Given the description of an element on the screen output the (x, y) to click on. 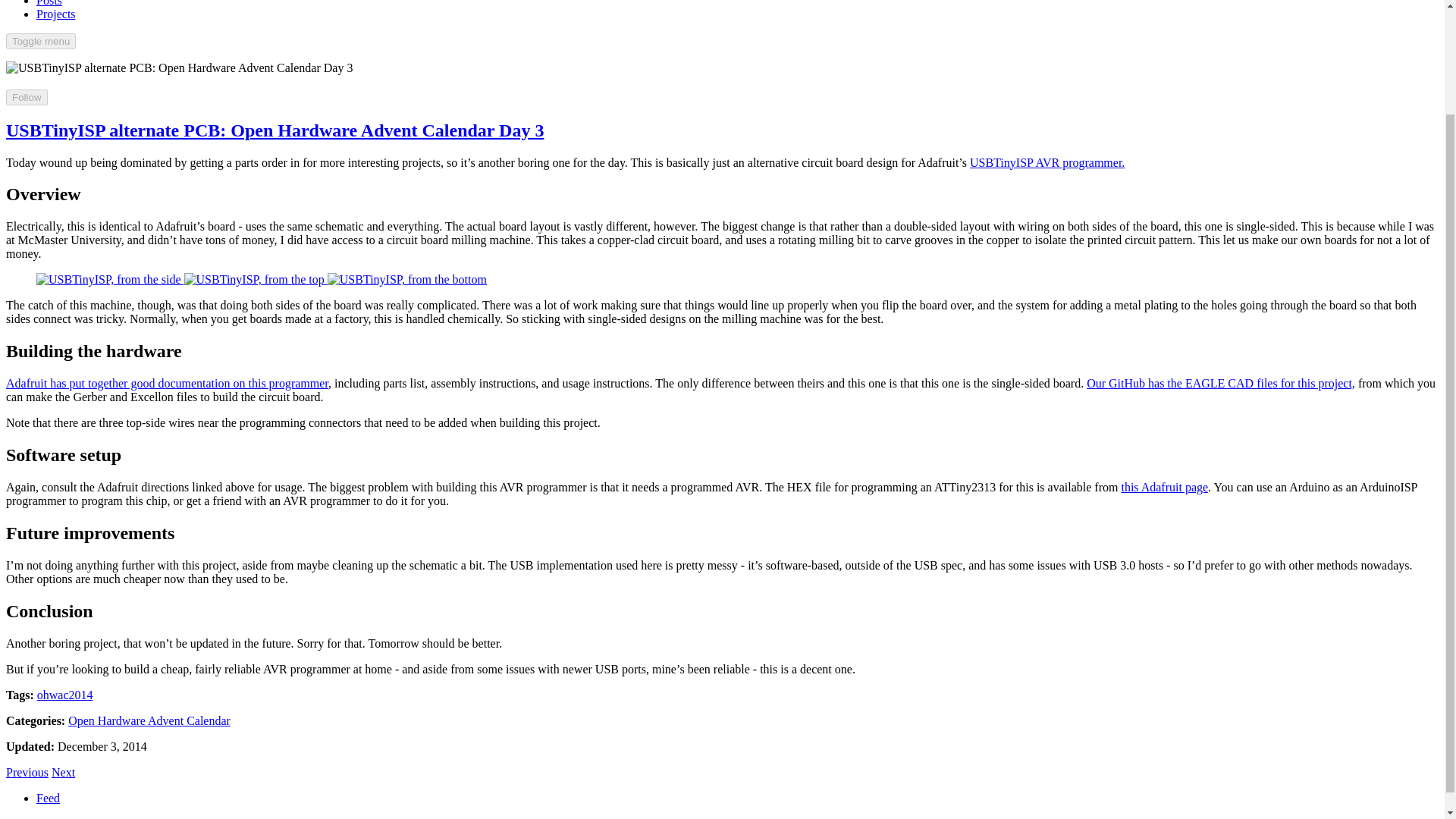
ohwac2014 (65, 694)
Projects (55, 13)
Our GitHub has the EAGLE CAD files for this project, (1220, 382)
USBTinyISP, from the bottom (62, 771)
USBTinyISP AVR programmer. (406, 278)
this Adafruit page (1046, 162)
Toggle menu (1164, 486)
Open Hardware Advent Calendar (40, 41)
Next (149, 720)
Feed (26, 771)
USBTinyISP, from the top (62, 771)
